Given the description of an element on the screen output the (x, y) to click on. 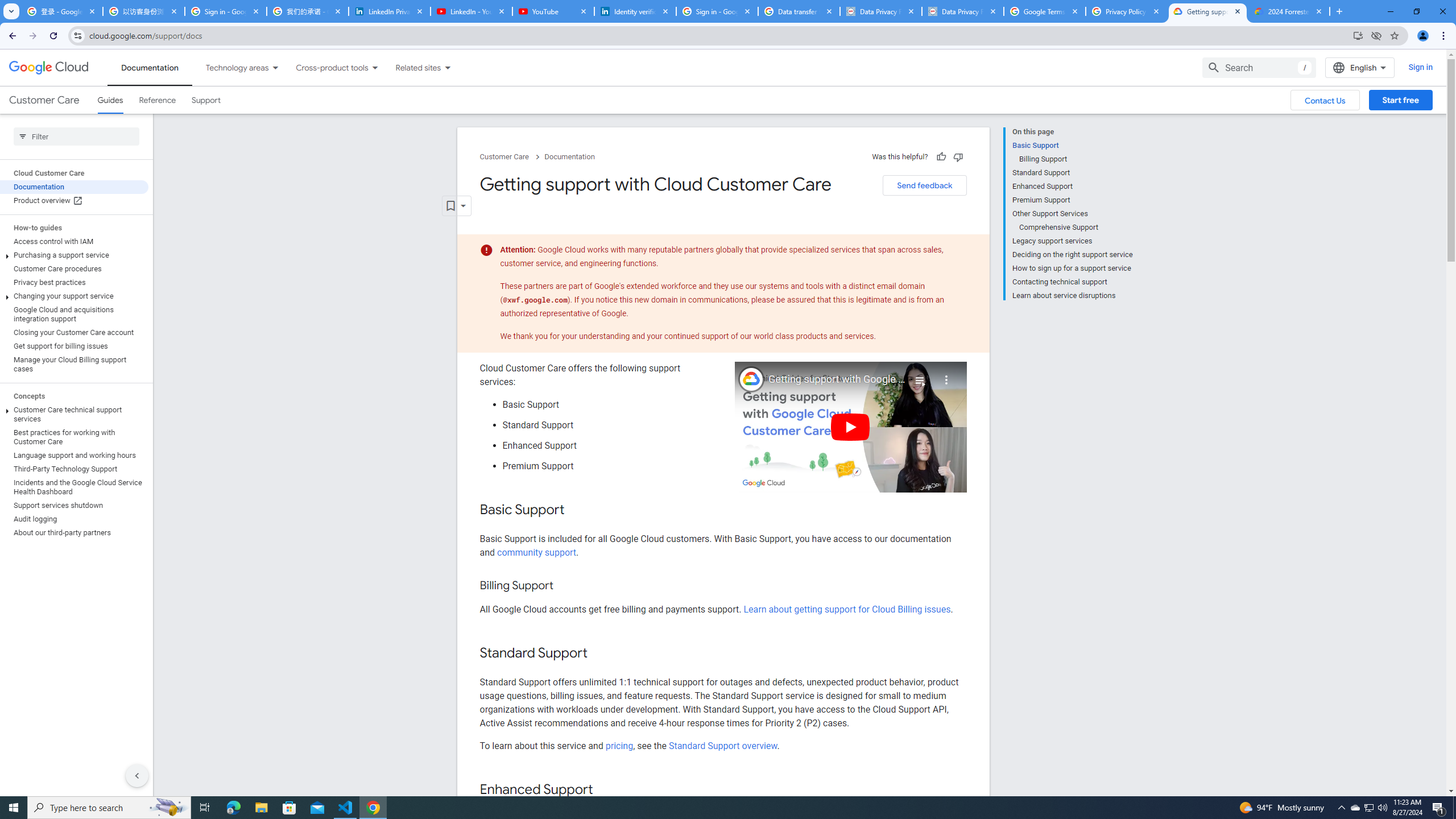
Audit logging (74, 518)
Basic Support (1071, 145)
More (946, 375)
Open dropdown (456, 205)
Not helpful (957, 156)
Contact Us (1324, 100)
community support (536, 552)
Data Privacy Framework (880, 11)
LinkedIn Privacy Policy (389, 11)
pricing (619, 745)
